Given the description of an element on the screen output the (x, y) to click on. 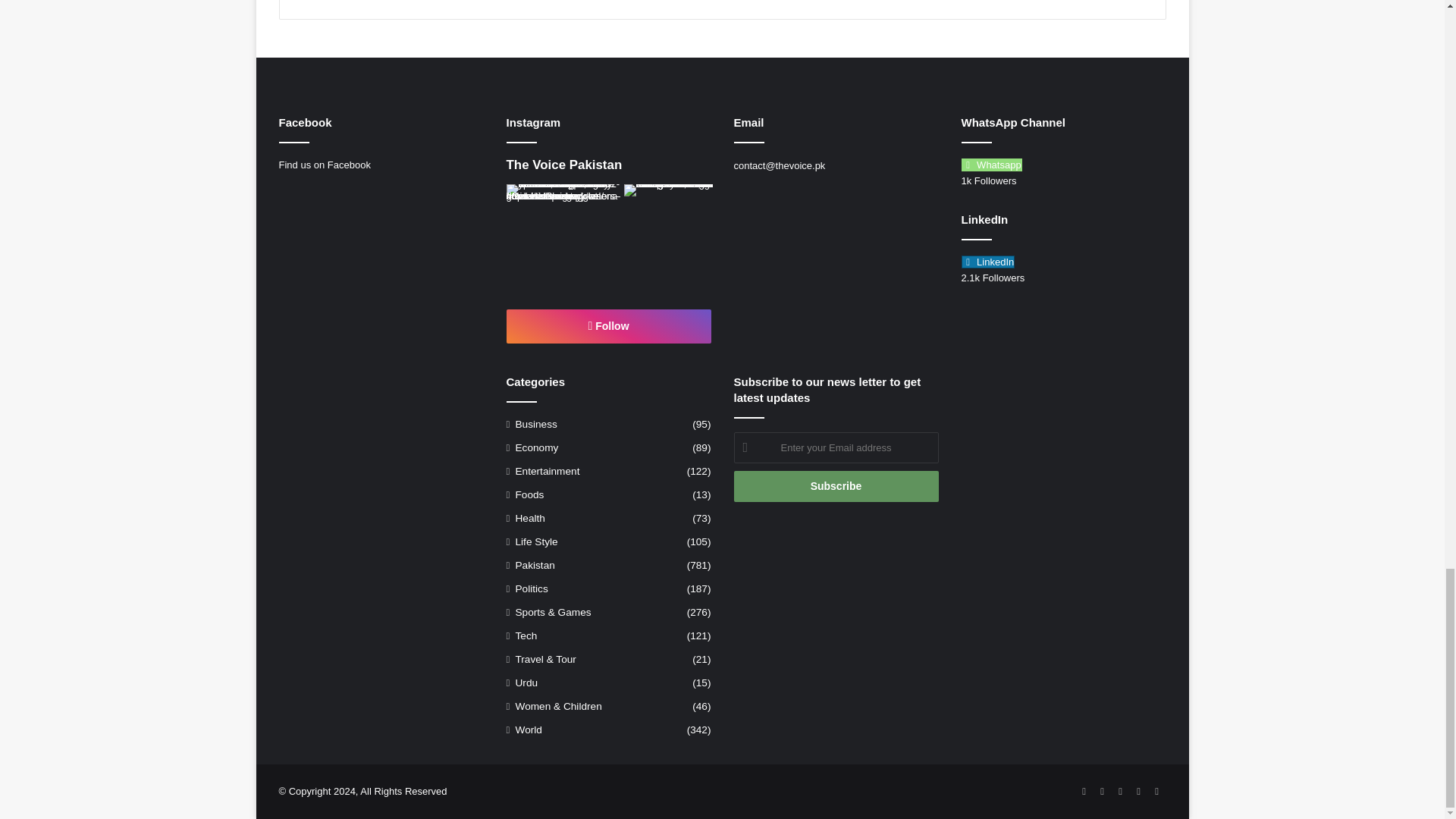
Subscribe (836, 486)
